Given the description of an element on the screen output the (x, y) to click on. 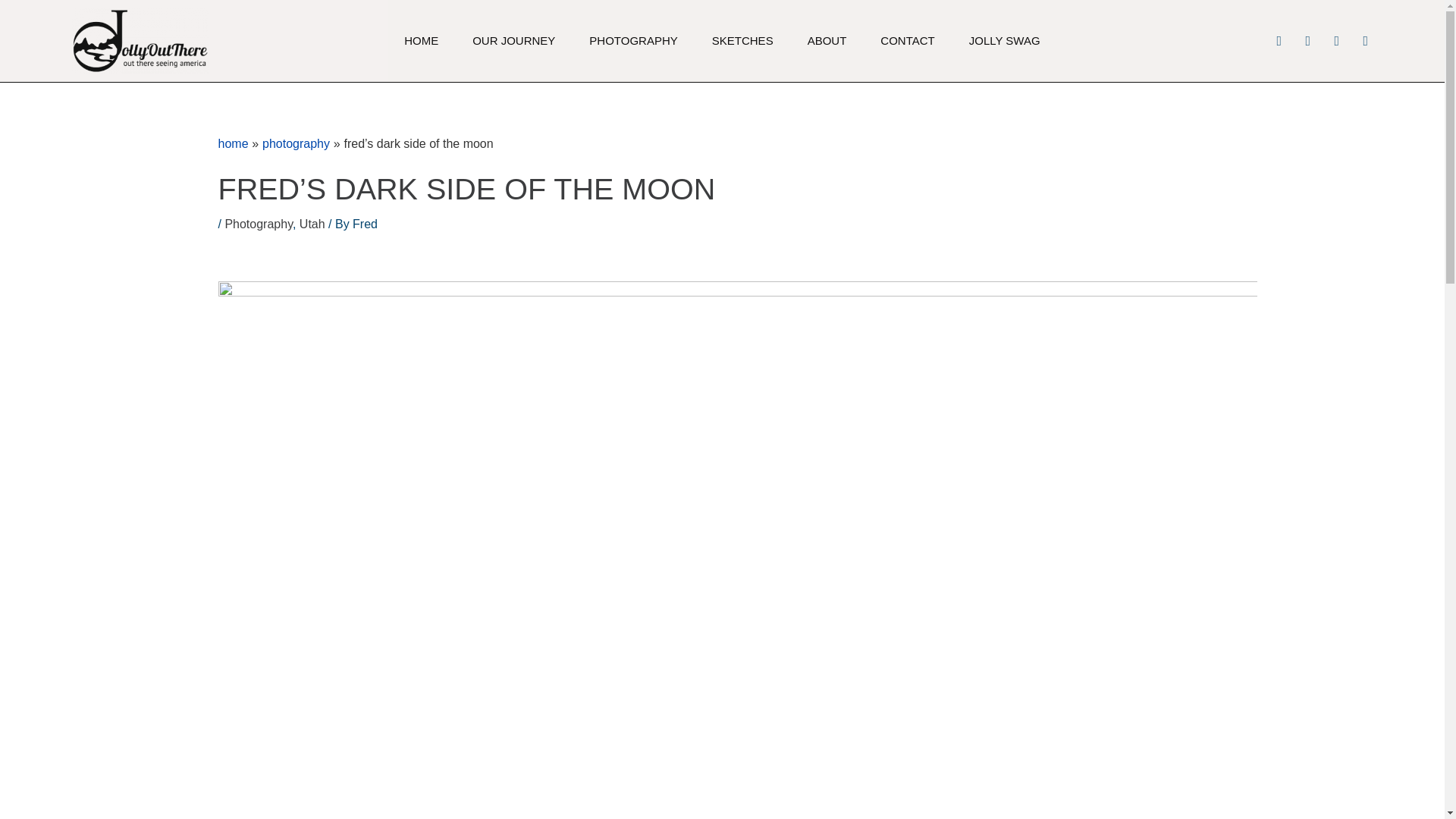
JOLLY SWAG (1005, 36)
Envelope (1365, 40)
View all posts by Fred (364, 223)
Instagram (1278, 40)
ABOUT (827, 24)
SKETCHES (742, 21)
Wordpress (1336, 40)
PHOTOGRAPHY (633, 18)
Flickr (1307, 40)
CONTACT (907, 35)
